Given the description of an element on the screen output the (x, y) to click on. 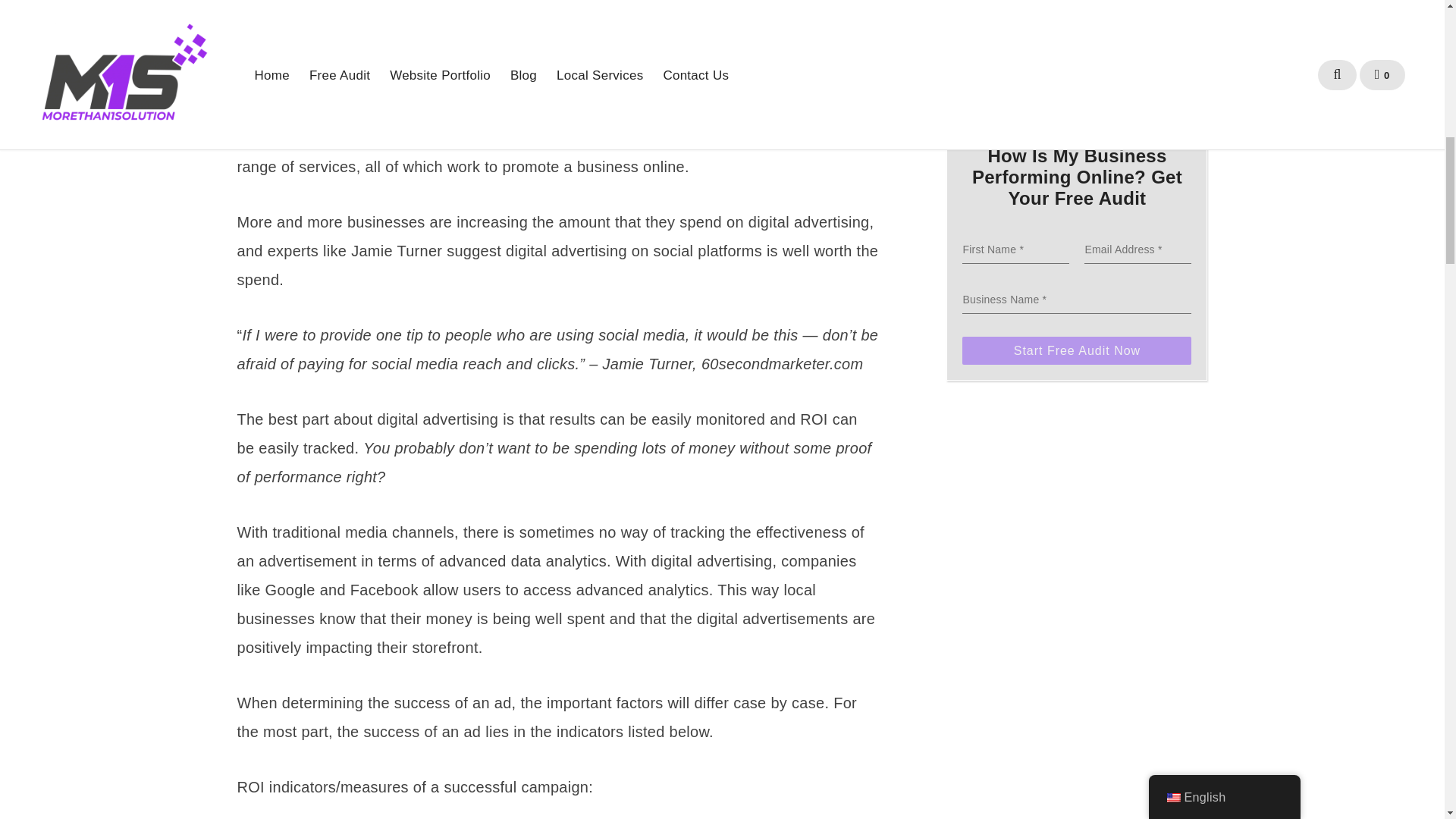
Start Free Audit Now (1076, 350)
Start Free Audit Now (1076, 350)
Start Free Audit Now (1076, 350)
